Given the description of an element on the screen output the (x, y) to click on. 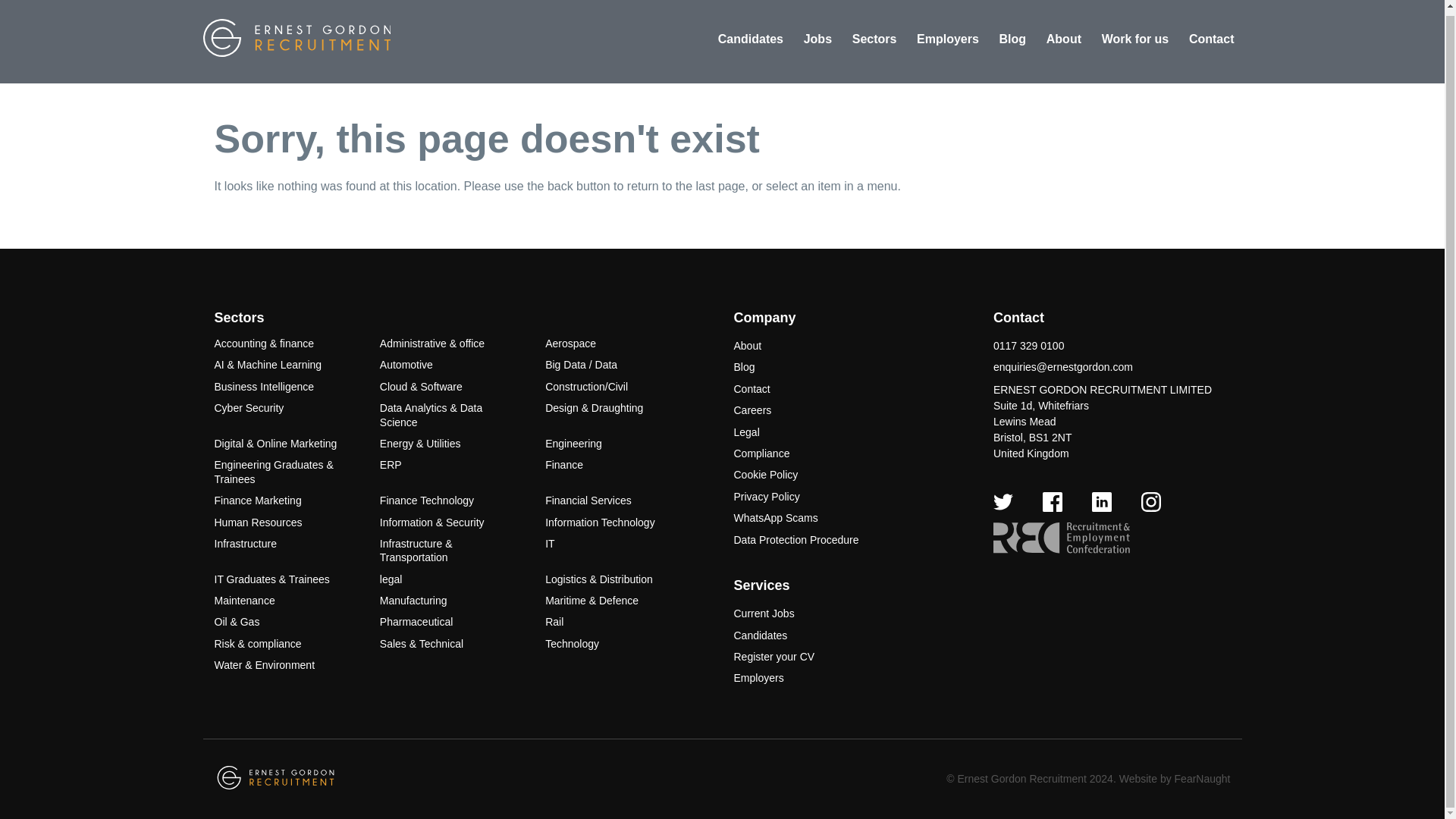
legal (391, 579)
Finance Technology (427, 500)
Finance (563, 464)
Work for us (1135, 40)
ERP (390, 464)
Aerospace (569, 343)
Business Intelligence (264, 386)
Information Technology (599, 521)
Financial Services (587, 500)
Finance Marketing (257, 500)
